Given the description of an element on the screen output the (x, y) to click on. 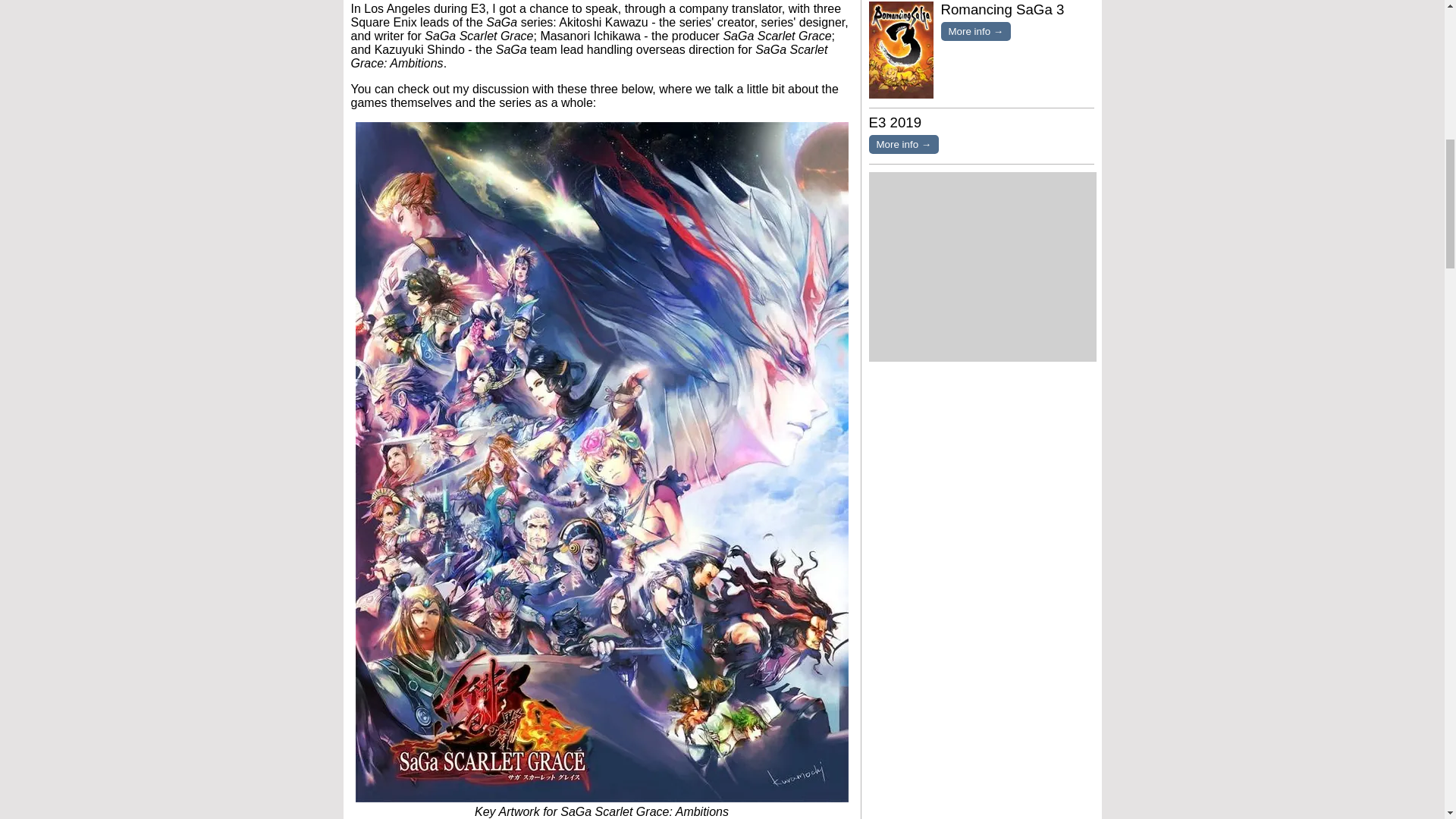
Romancing SaGa 3 (1002, 9)
E3 2019 (895, 122)
